Given the description of an element on the screen output the (x, y) to click on. 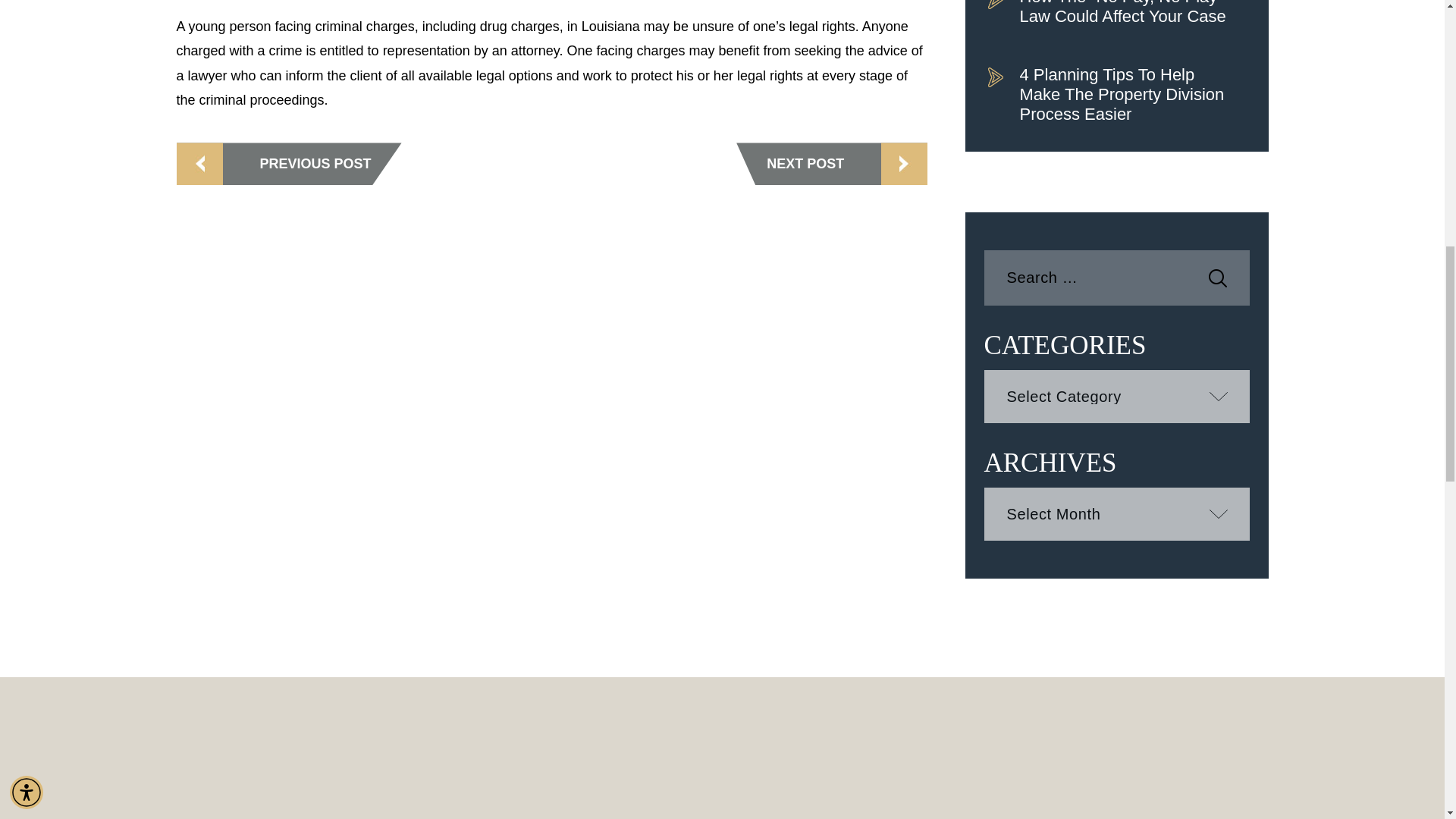
Search (1217, 278)
Search (1217, 278)
